Given the description of an element on the screen output the (x, y) to click on. 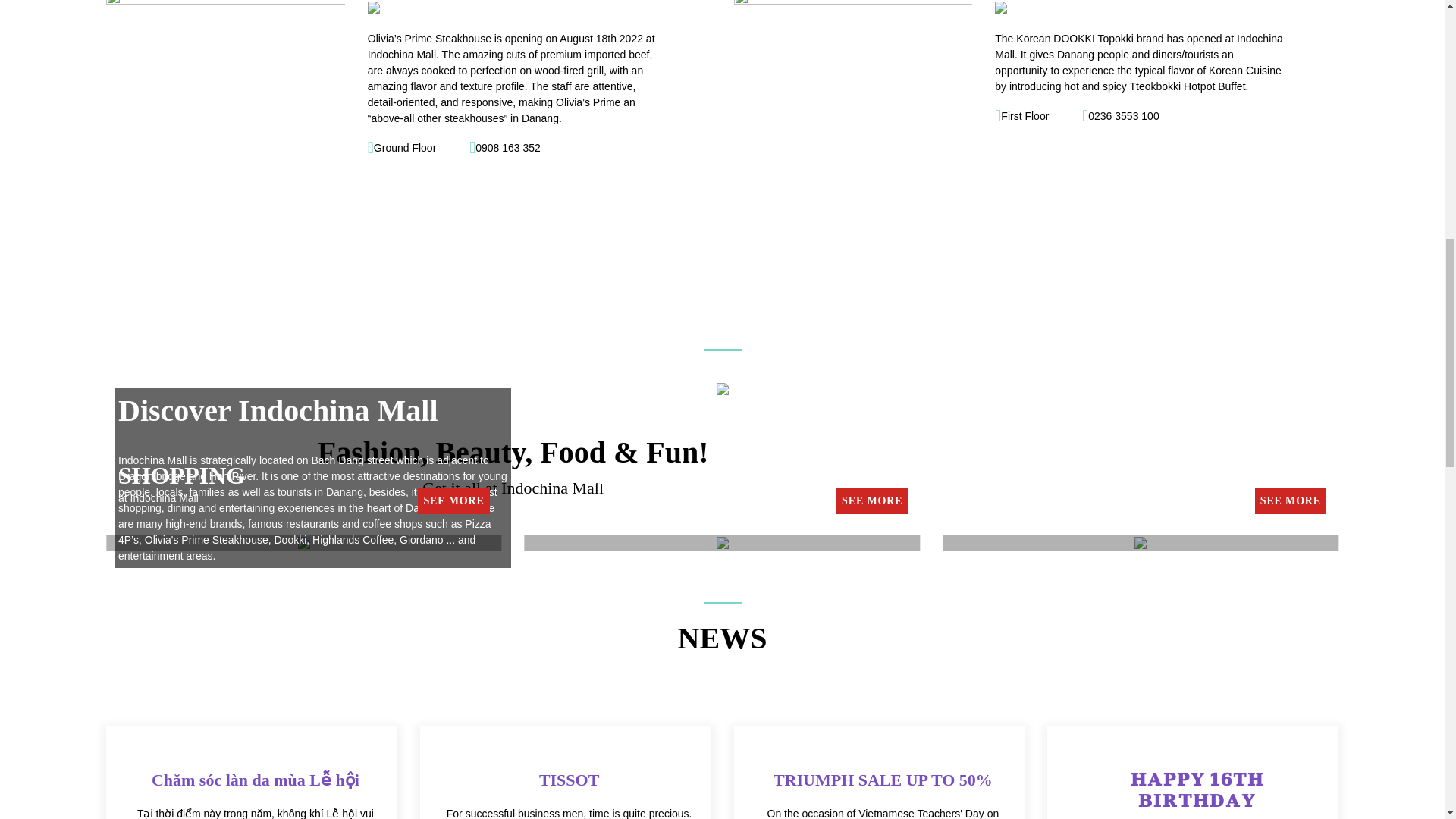
TISSOT (568, 779)
SEE MORE (1290, 500)
SEE MORE (871, 500)
SEE MORE (453, 500)
